Given the description of an element on the screen output the (x, y) to click on. 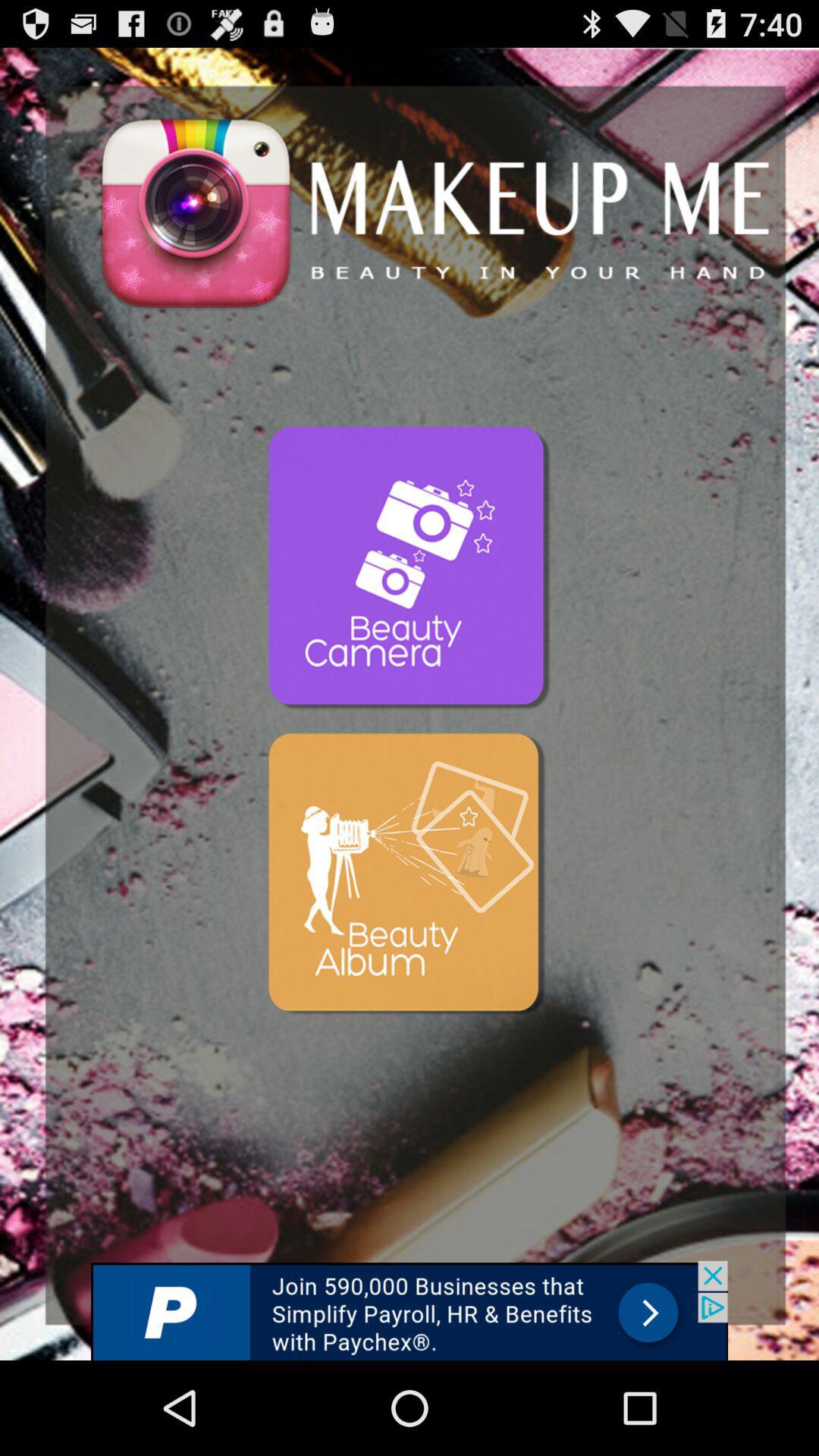
album (409, 875)
